Given the description of an element on the screen output the (x, y) to click on. 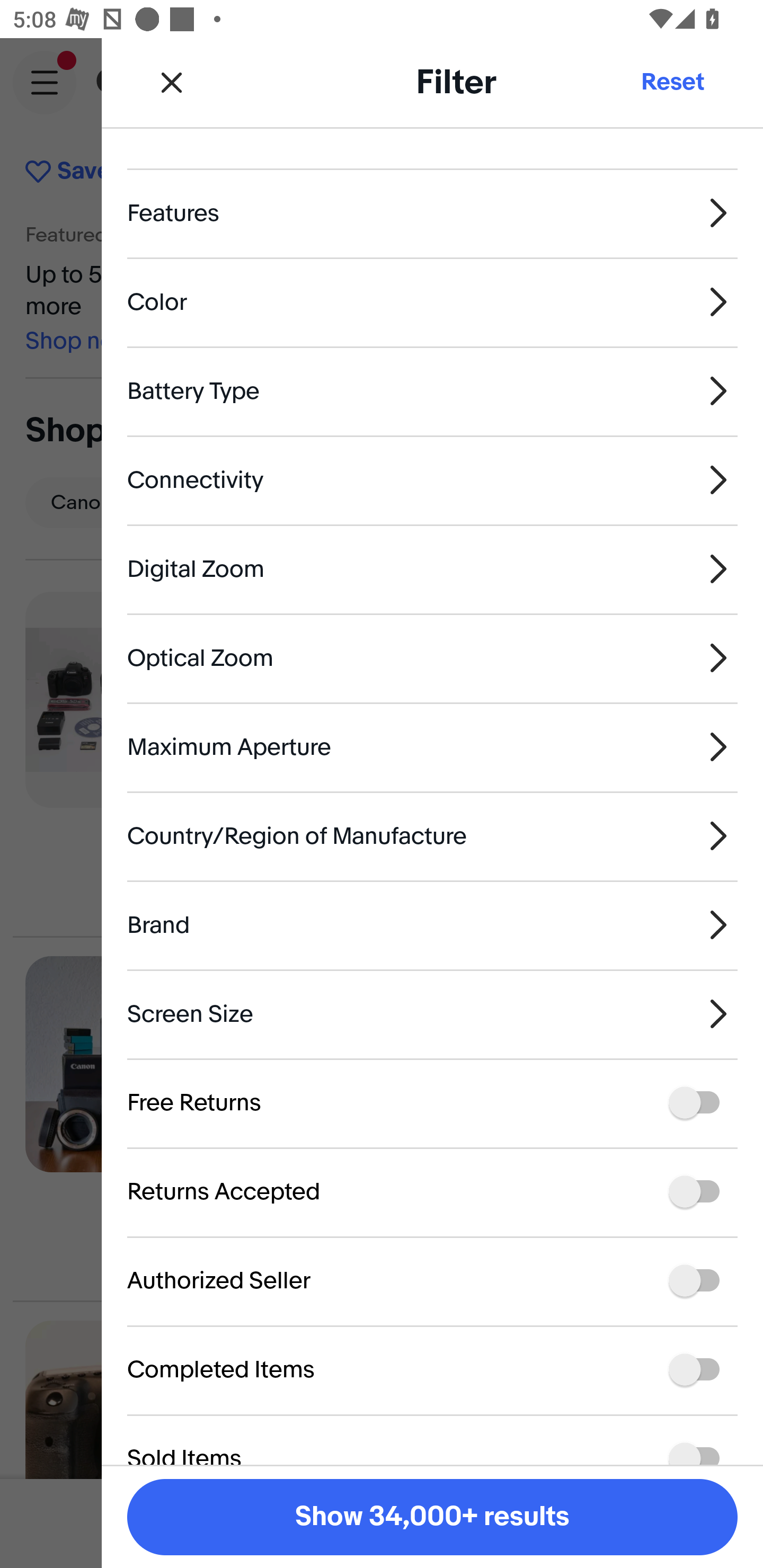
Close Filter (171, 81)
Reset (672, 81)
Features (432, 212)
Color (432, 301)
Battery Type (432, 390)
Connectivity (432, 479)
Digital Zoom (432, 568)
Optical Zoom (432, 657)
Maximum Aperture (432, 746)
Country/Region of Manufacture (432, 835)
Brand (432, 924)
Screen Size (432, 1013)
Free Returns (432, 1102)
Returns Accepted (432, 1192)
Authorized Seller (432, 1280)
Completed Items (432, 1369)
Sold Items (432, 1439)
Show 34,000+ results (432, 1516)
